Given the description of an element on the screen output the (x, y) to click on. 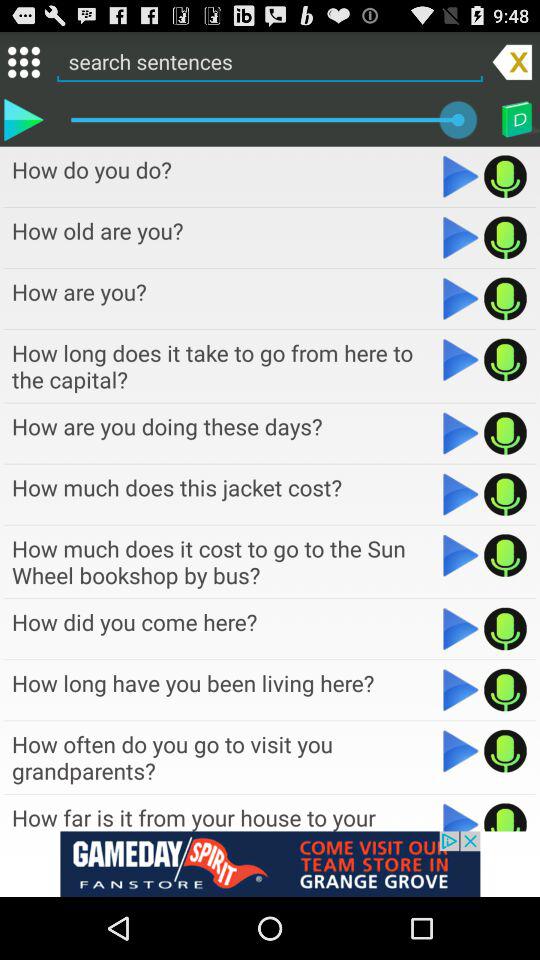
search bar (269, 61)
